Given the description of an element on the screen output the (x, y) to click on. 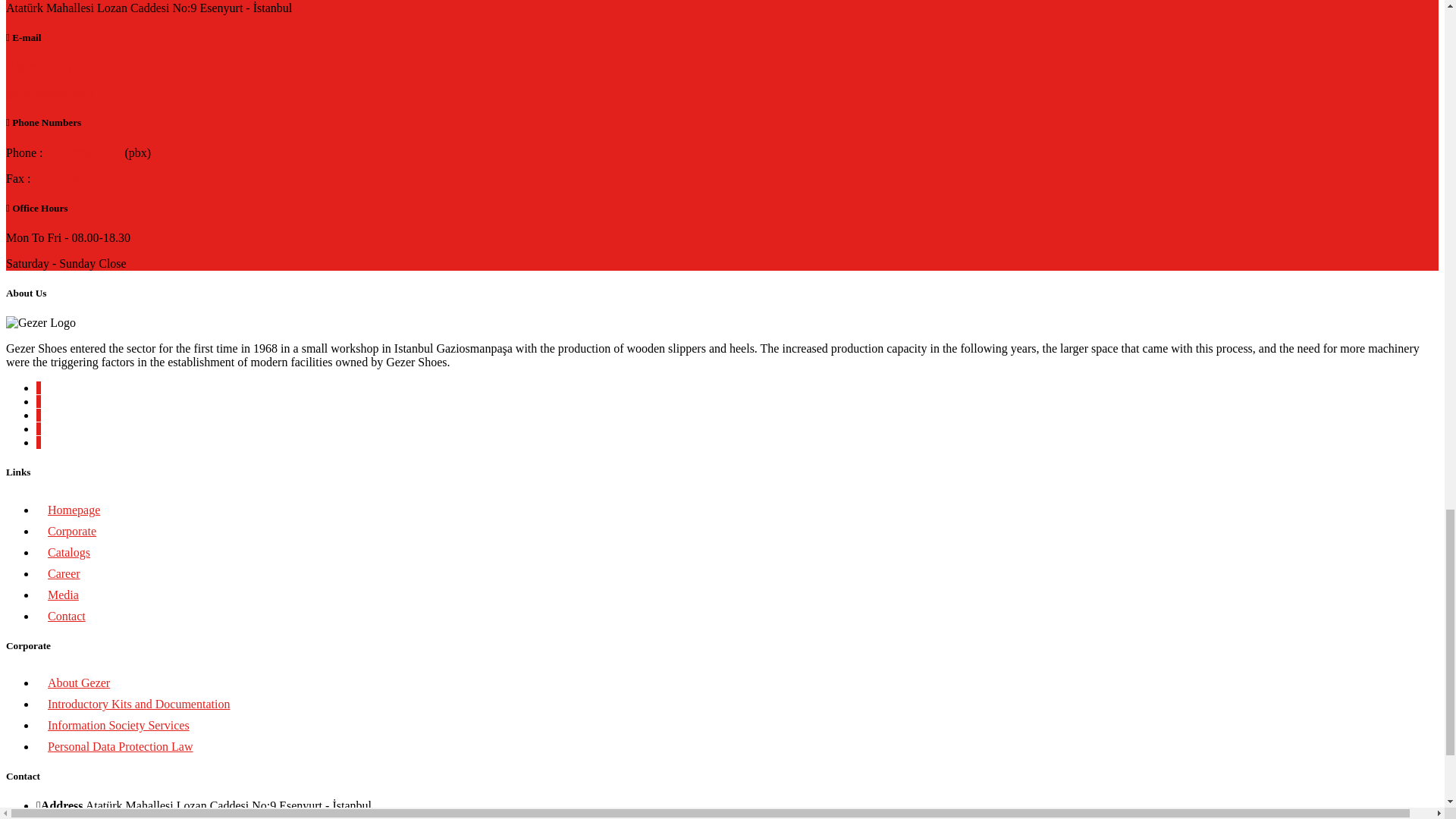
0212 886 51 55 (71, 178)
0212 886 51 52 (82, 152)
